Given the description of an element on the screen output the (x, y) to click on. 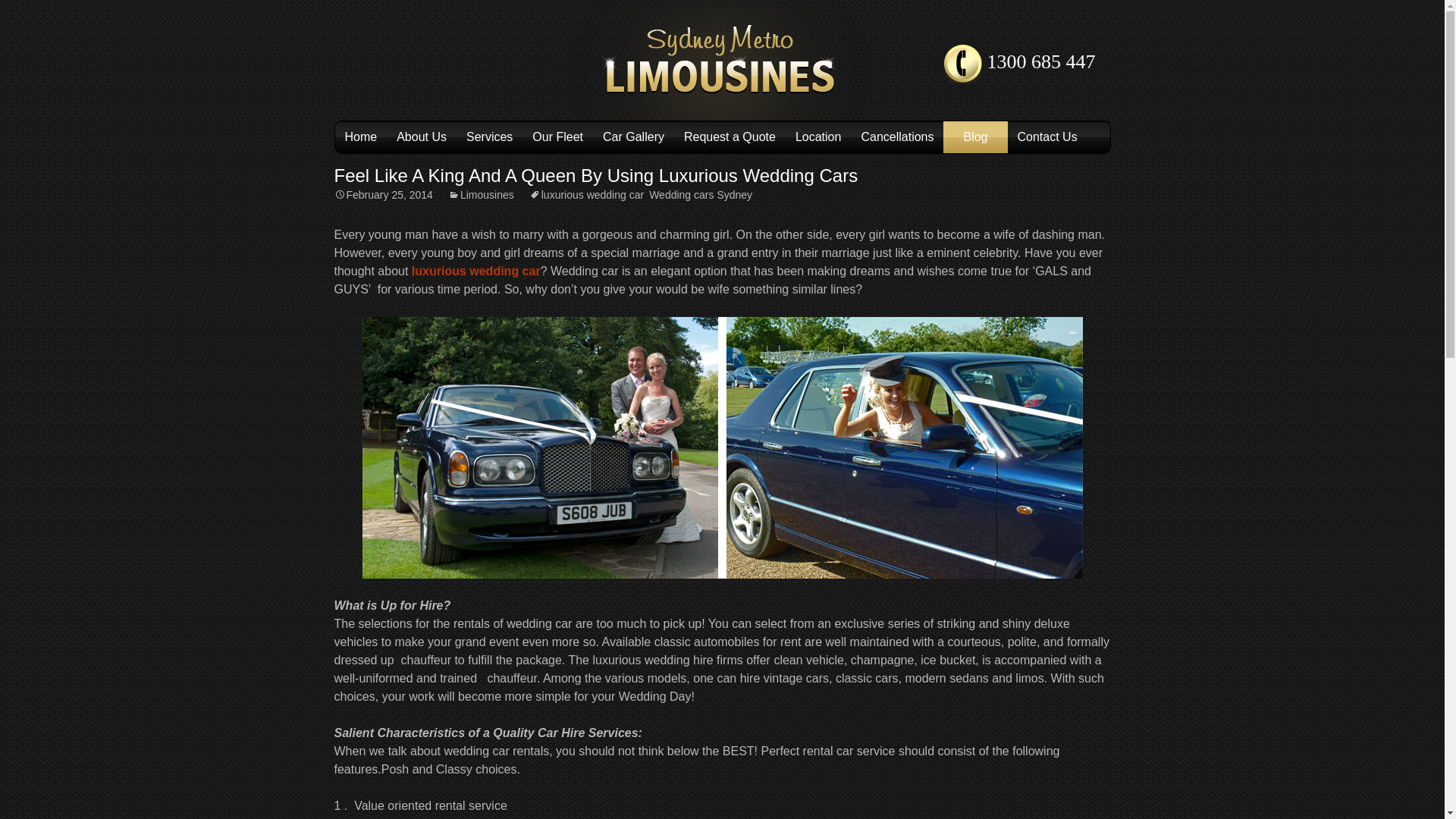
Services (489, 137)
Limousines (480, 194)
February 25, 2014 (382, 194)
Blog (721, 60)
Contact Us (1047, 137)
Our Fleet (557, 137)
1300 685 447 (721, 60)
luxurious wedding car (586, 194)
Cancellations (896, 137)
Location (818, 137)
Feel Like A King And A Queen By Using Luxurious Wedding Cars (595, 175)
Blog (975, 137)
Request a Quote (730, 137)
luxurious wedding car (476, 270)
View all posts in Limousines (480, 194)
